Given the description of an element on the screen output the (x, y) to click on. 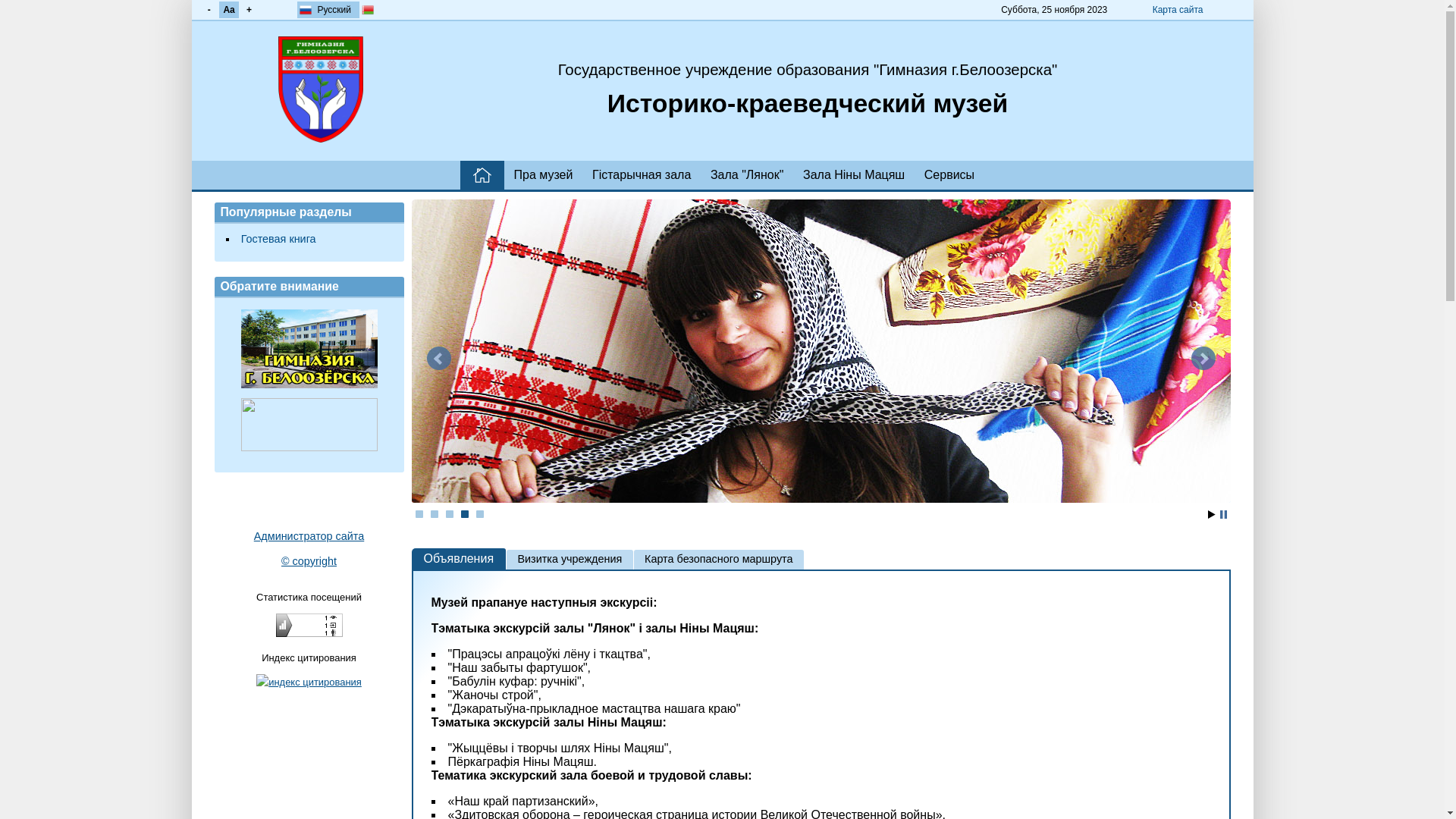
2 Element type: text (434, 513)
3 Element type: text (449, 513)
4 Element type: text (464, 513)
Aa Element type: text (228, 9)
Prev Element type: text (438, 358)
1 Element type: text (419, 513)
Stop Element type: text (1222, 514)
- Element type: text (208, 9)
Start Element type: text (1210, 514)
5 Element type: text (479, 513)
+ Element type: text (248, 9)
Next Element type: text (1202, 358)
